Given the description of an element on the screen output the (x, y) to click on. 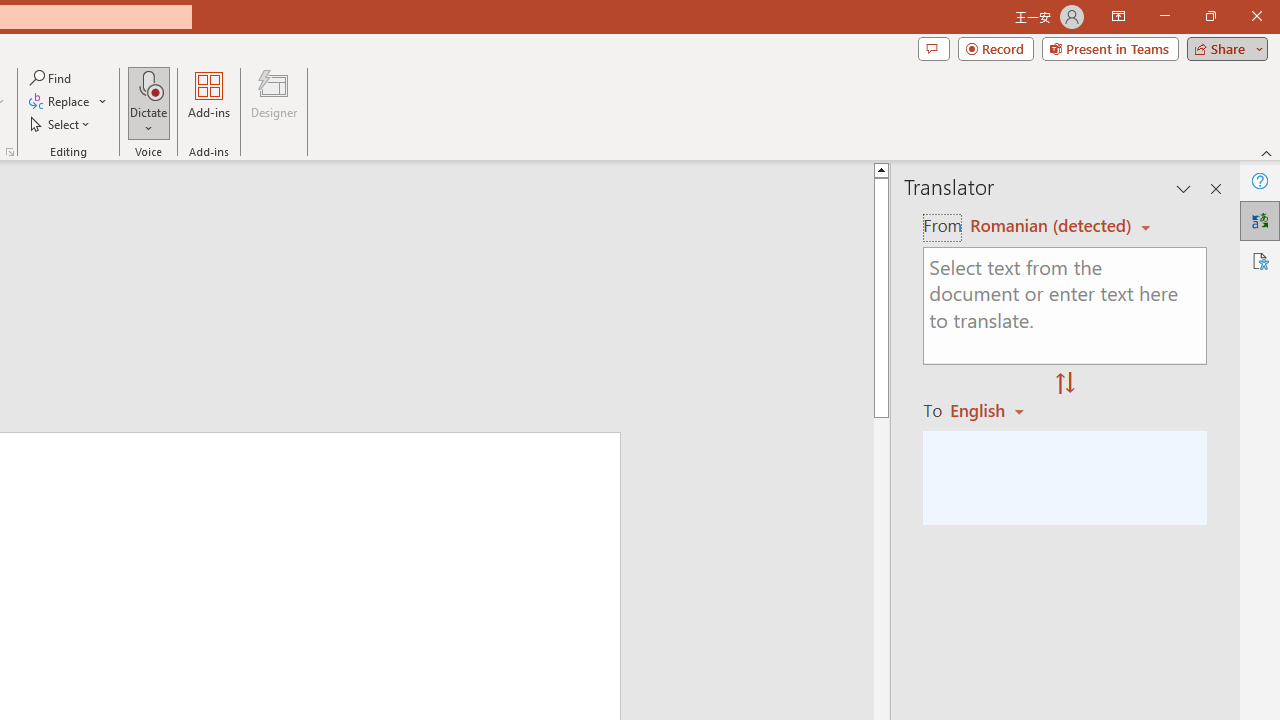
Romanian (994, 409)
